Given the description of an element on the screen output the (x, y) to click on. 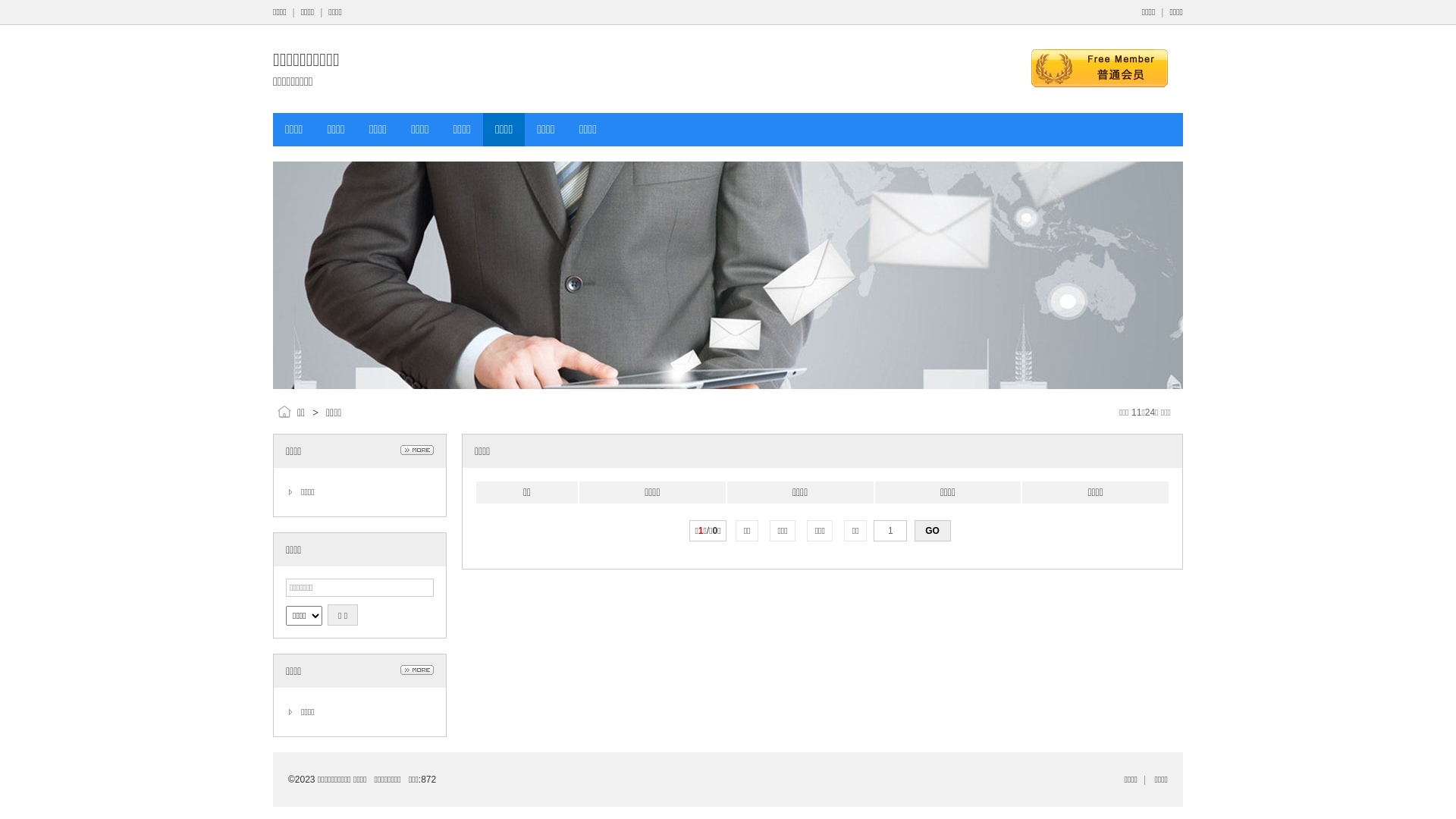
GO Element type: text (932, 530)
